Given the description of an element on the screen output the (x, y) to click on. 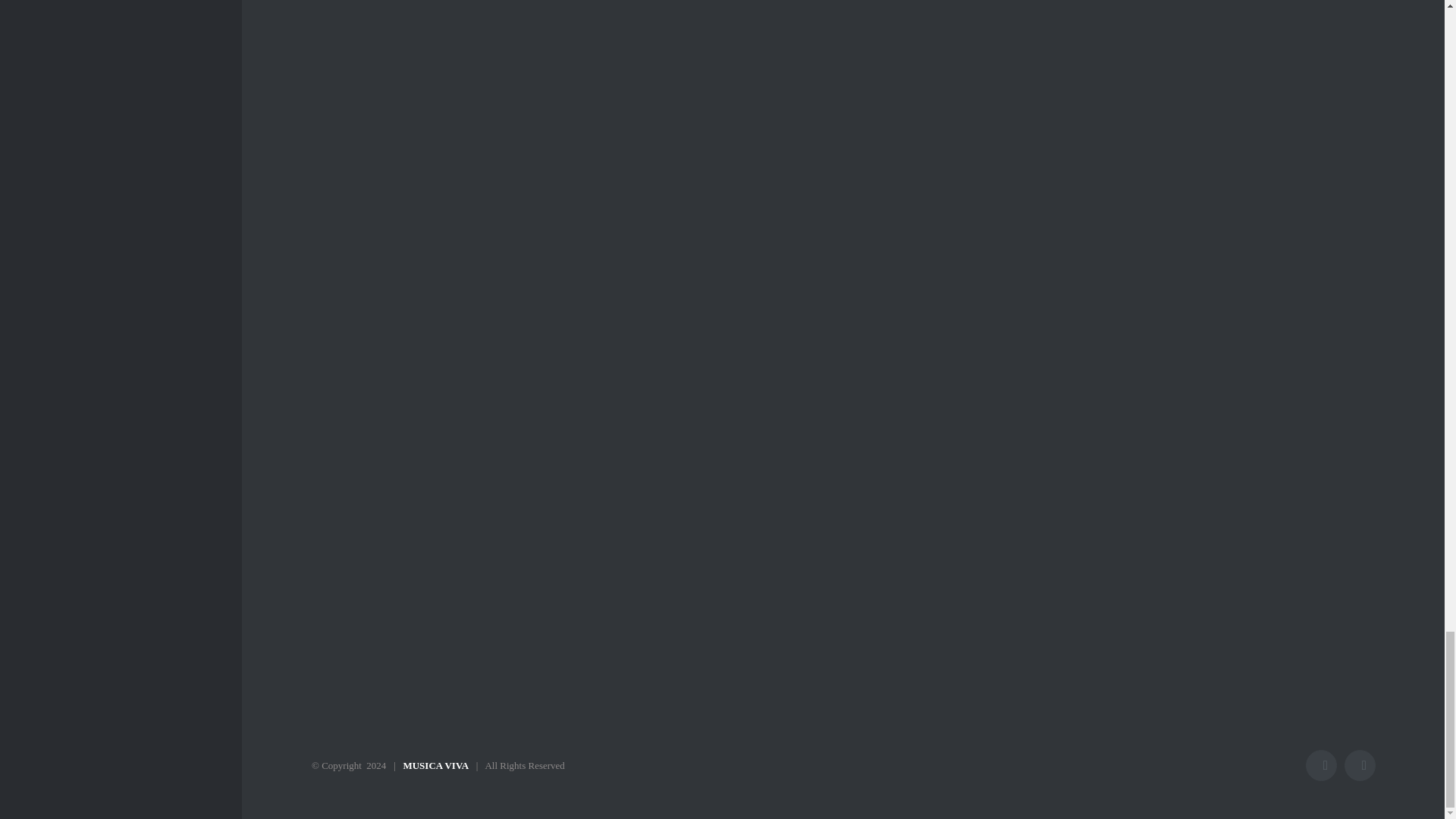
Facebook (1321, 765)
Facebook (1321, 765)
Vimeo (1359, 765)
Vimeo (1359, 765)
